Given the description of an element on the screen output the (x, y) to click on. 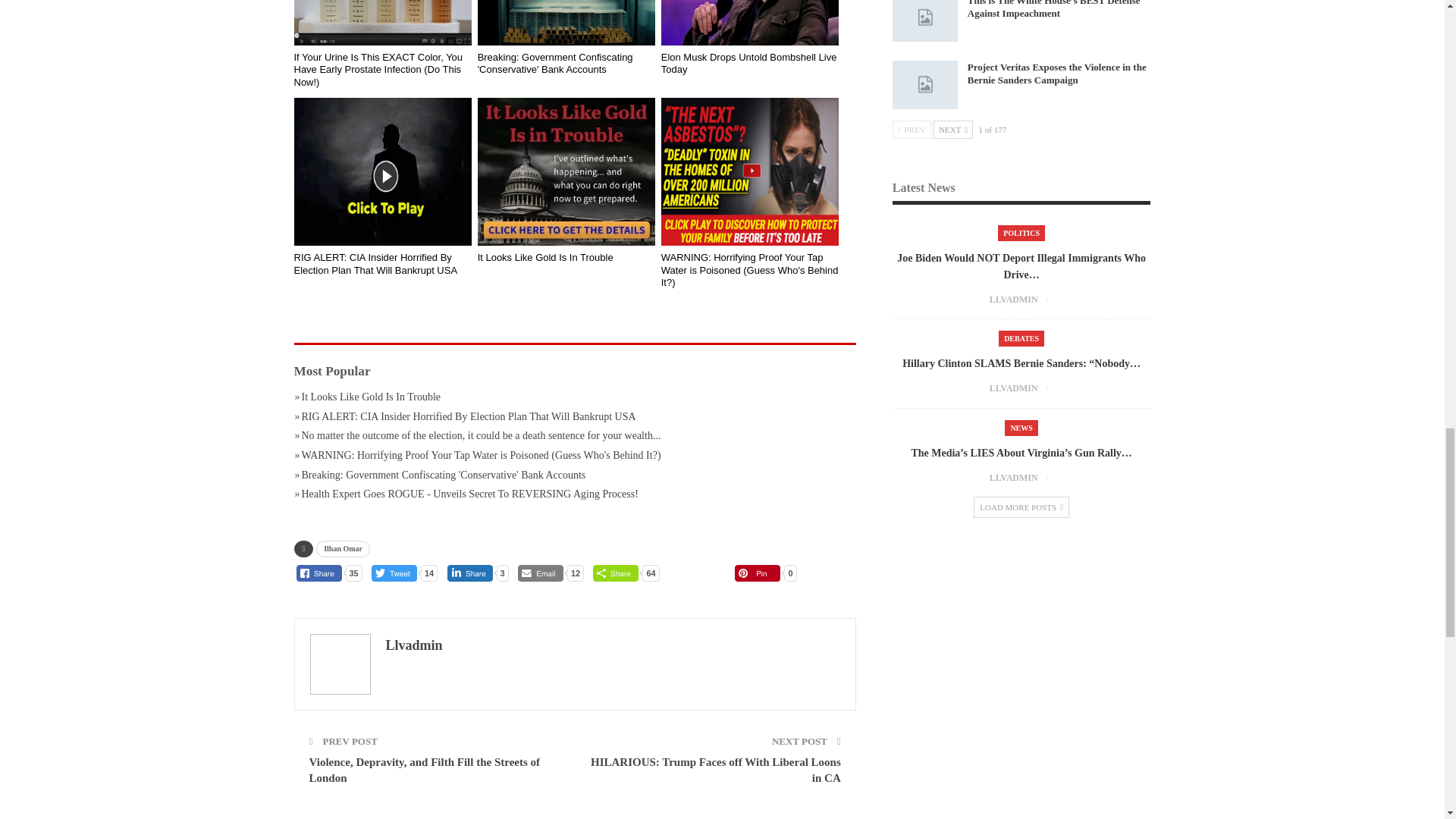
Elon Musk Drops Untold Bombshell Live Today (750, 22)
It Looks Like Gold Is In Trouble (566, 171)
